Given the description of an element on the screen output the (x, y) to click on. 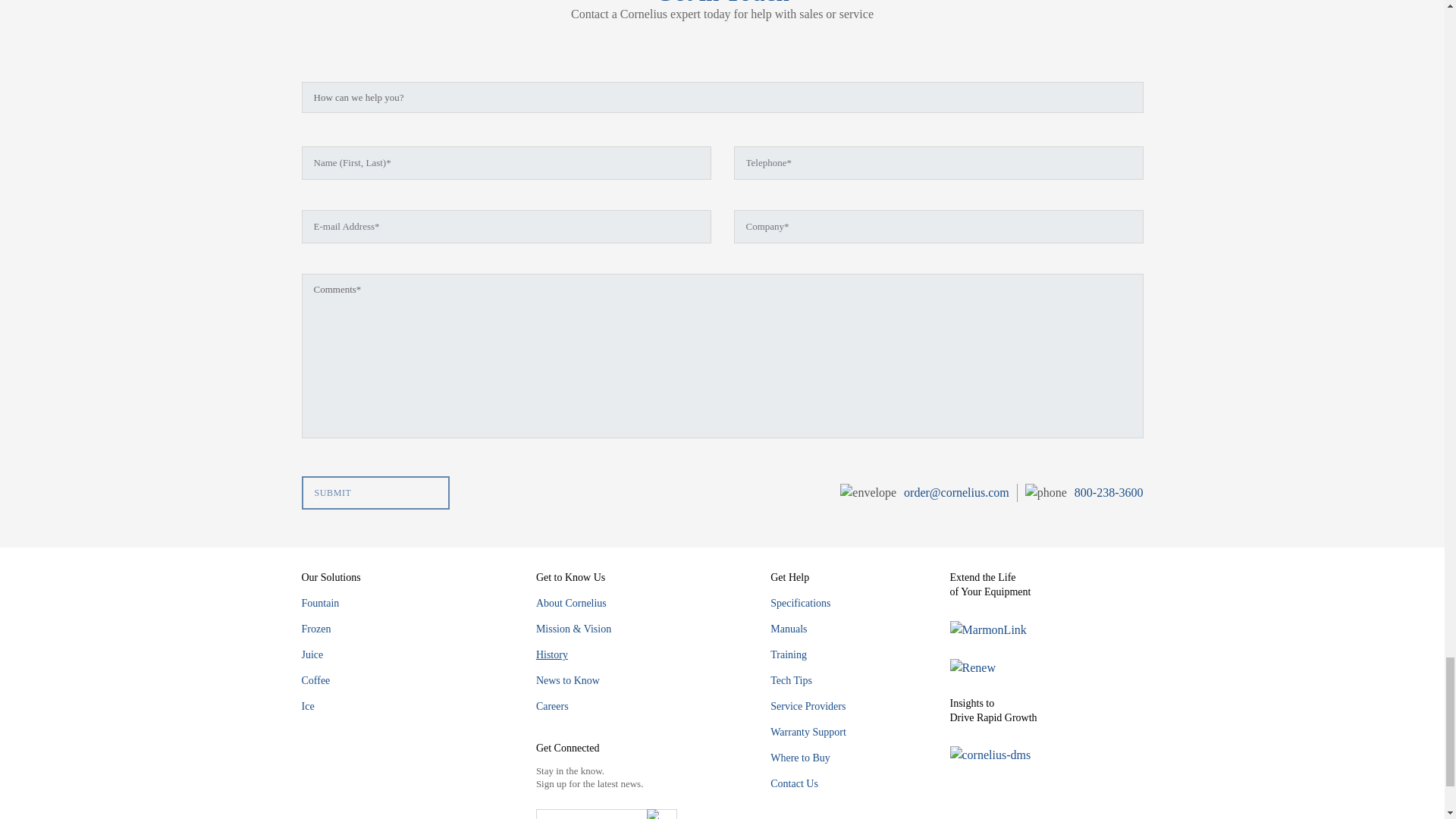
Submit (375, 492)
